Given the description of an element on the screen output the (x, y) to click on. 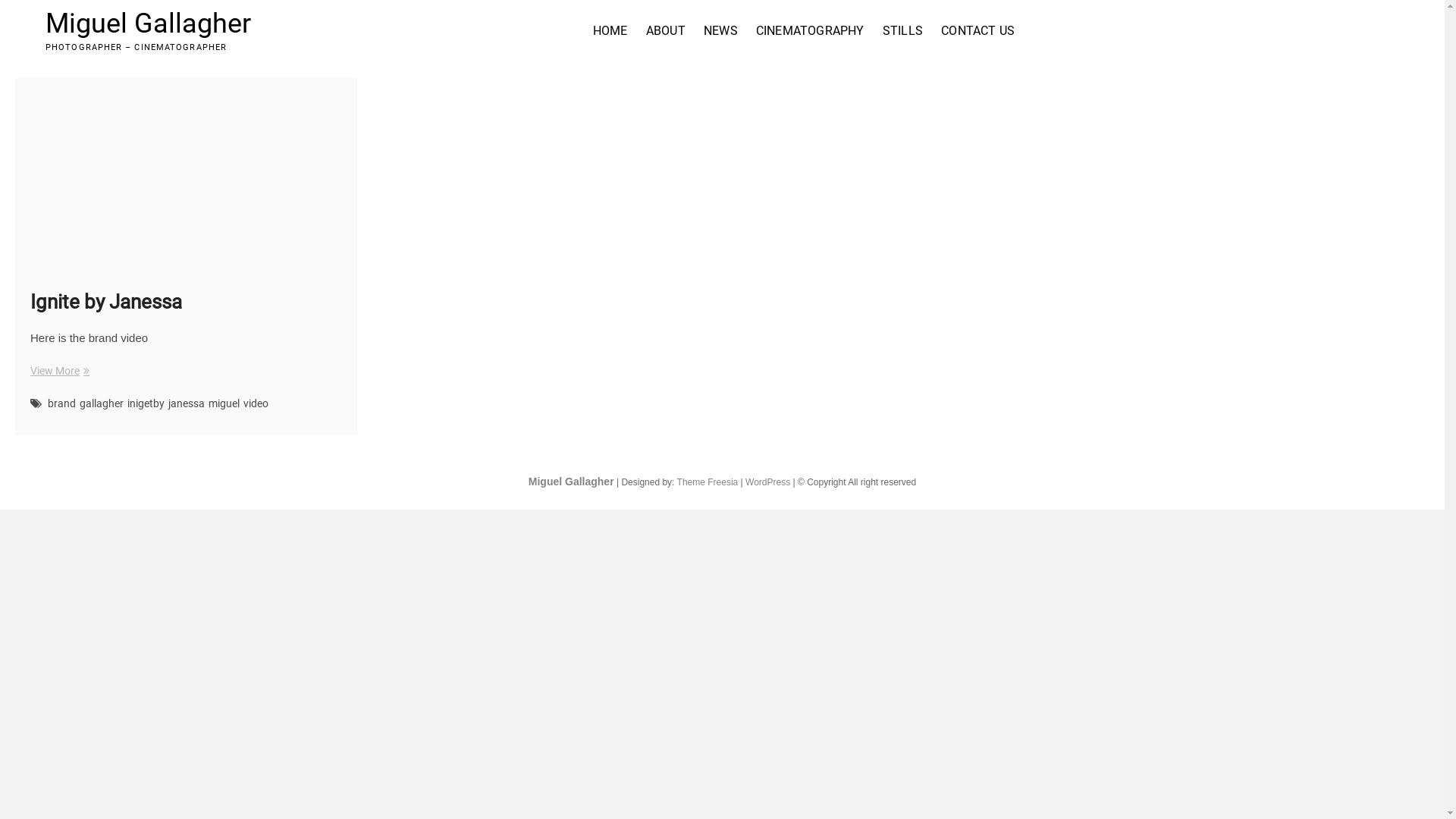
Theme Freesia Element type: text (707, 481)
CONTACT US Element type: text (977, 31)
miguel Element type: text (225, 405)
HOME Element type: text (610, 31)
CINEMATOGRAPHY Element type: text (810, 31)
WWW.INGITEBYJANESSA.COM Element type: hover (186, 174)
View More
Ignite by Janessa Element type: text (57, 371)
inigetby Element type: text (147, 405)
WordPress Element type: text (767, 481)
Menu Button Element type: text (1361, 30)
Miguel Gallagher Element type: text (148, 23)
video Element type: text (257, 405)
Ignite by Janessa Element type: text (106, 301)
NEWS Element type: text (720, 31)
janessa Element type: text (188, 405)
gallagher Element type: text (103, 405)
ABOUT Element type: text (665, 31)
Miguel Gallagher Element type: text (571, 481)
STILLS Element type: text (902, 31)
brand Element type: text (63, 405)
